Given the description of an element on the screen output the (x, y) to click on. 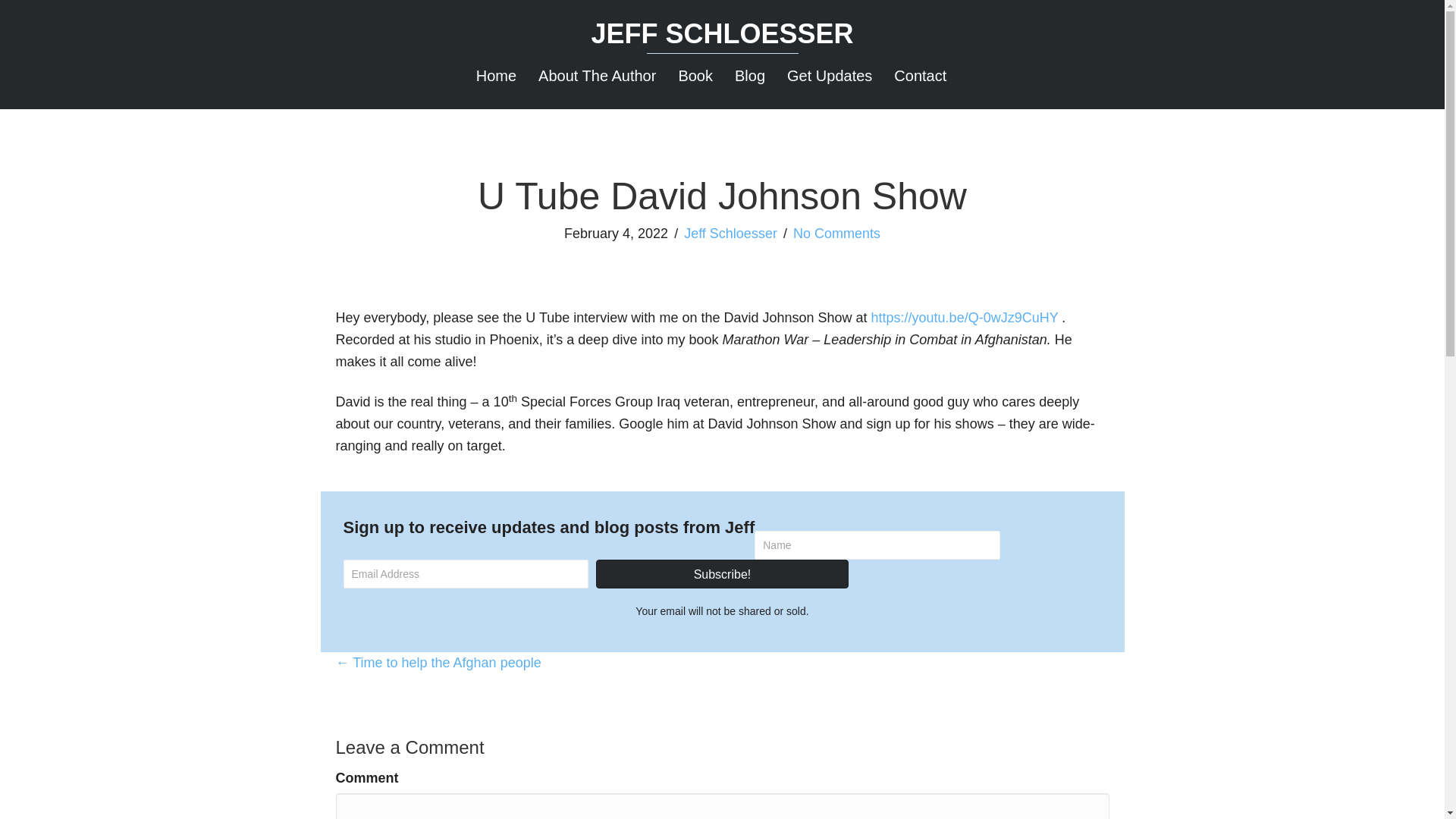
Contact (919, 75)
Blog (749, 75)
No Comments (836, 233)
Jeff Schloesser (730, 233)
About The Author (596, 75)
Get Updates (829, 75)
Jeff Schloesser (722, 33)
Subscribe! (721, 573)
Home (496, 75)
Book (694, 75)
